Given the description of an element on the screen output the (x, y) to click on. 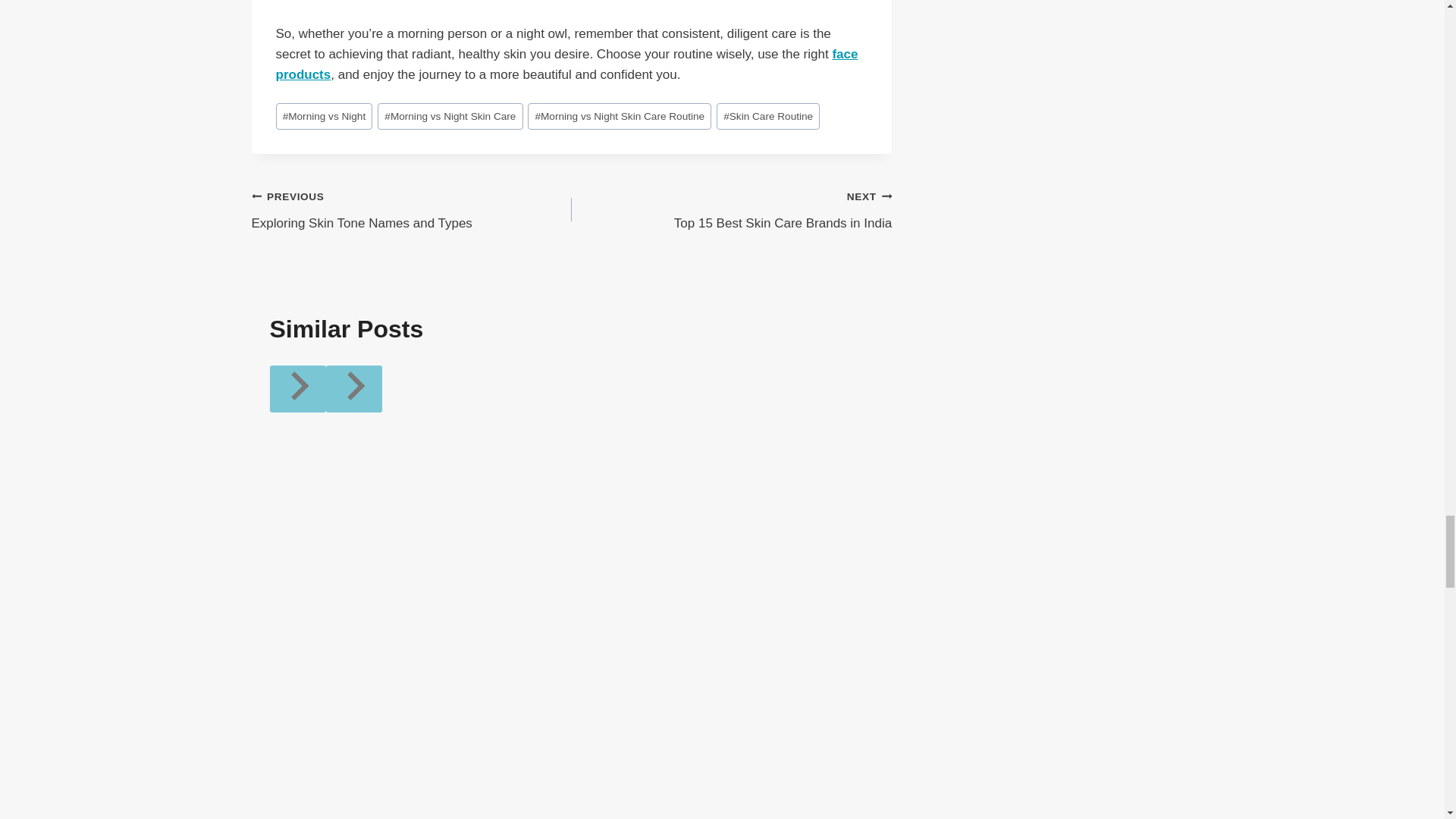
Morning vs Night Skin Care Routine (619, 116)
Morning vs Night (324, 116)
Skin Care Routine (767, 116)
Morning vs Night Skin Care (449, 116)
